Given the description of an element on the screen output the (x, y) to click on. 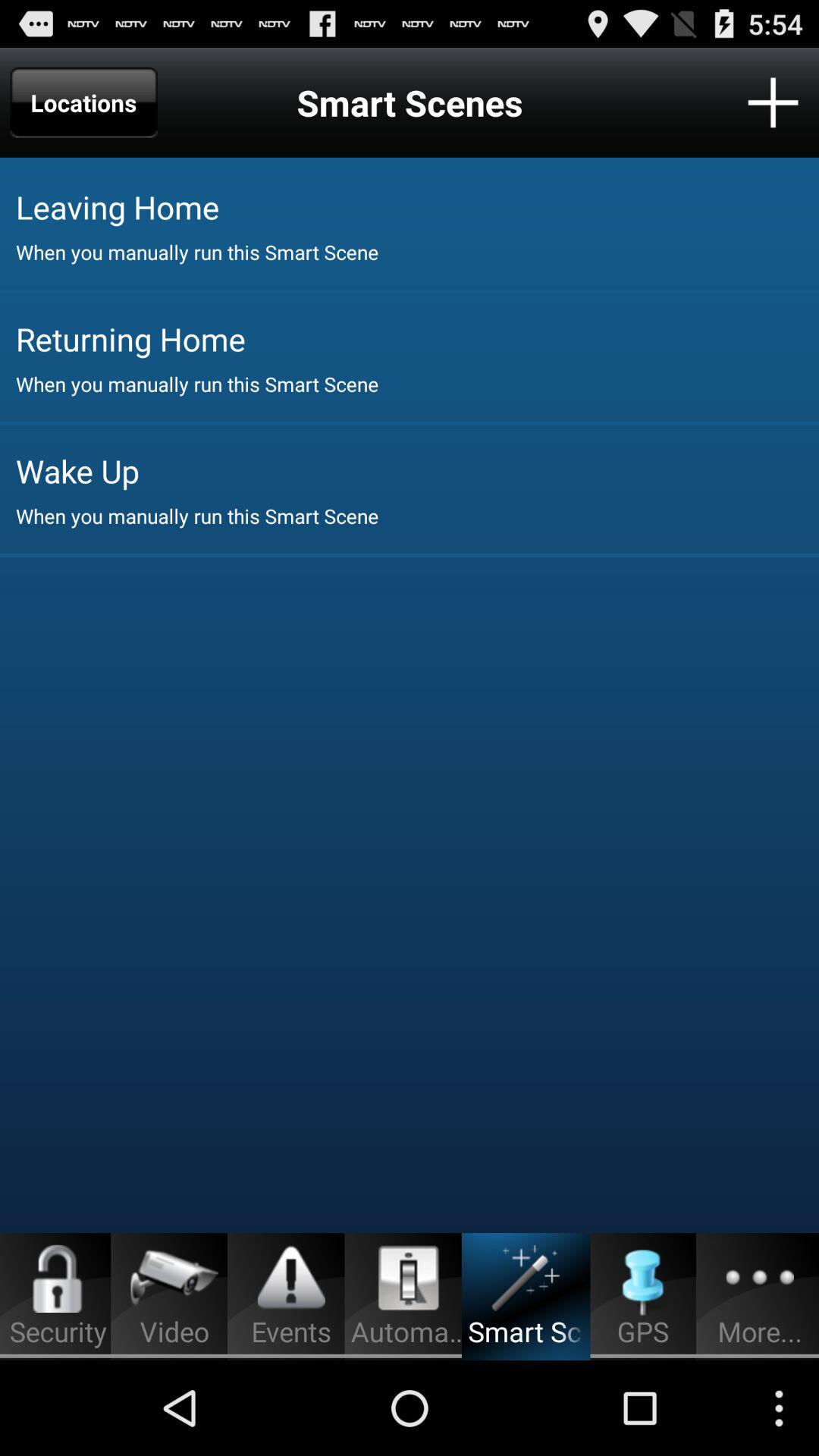
flip to locations button (83, 102)
